Given the description of an element on the screen output the (x, y) to click on. 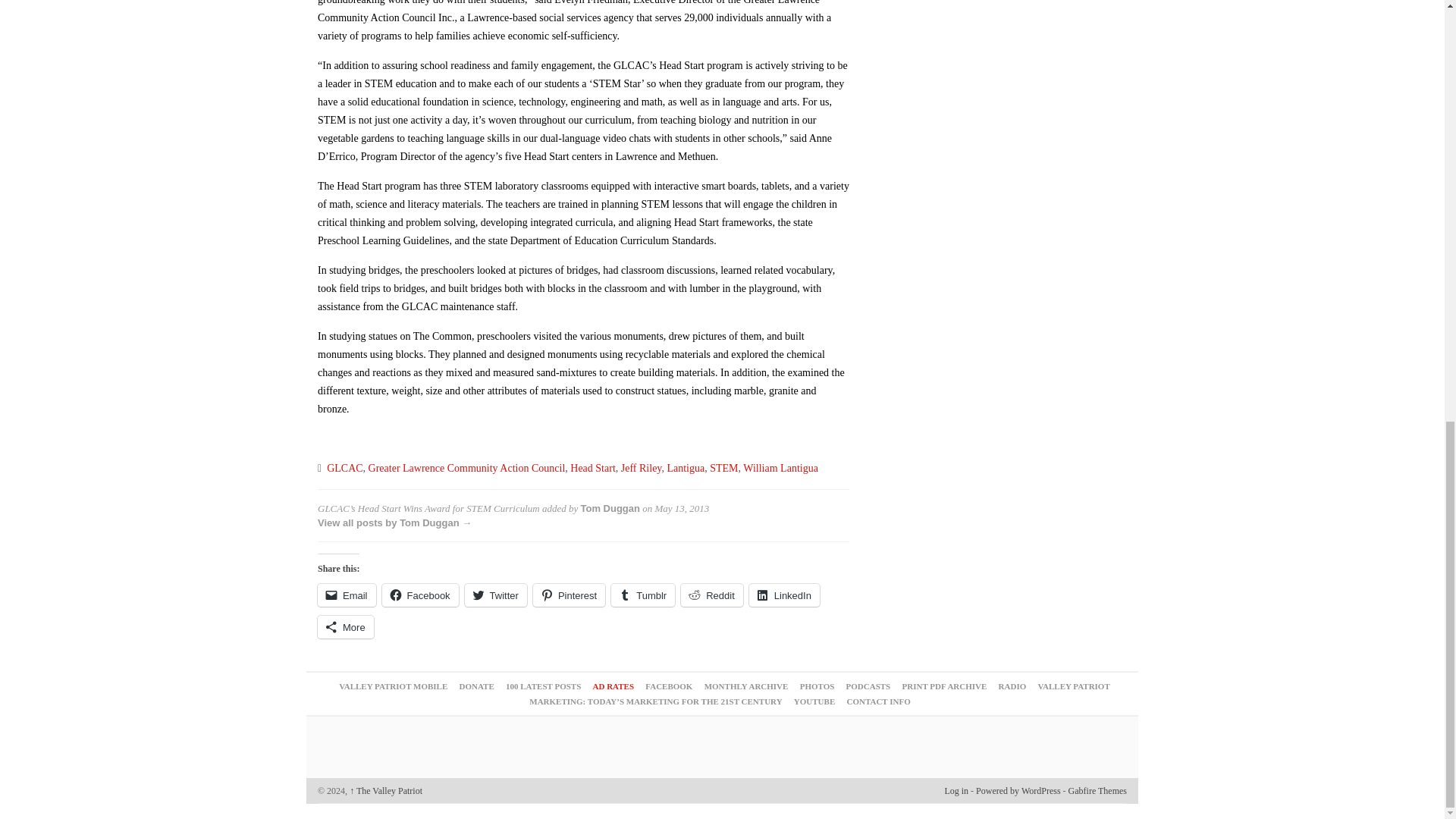
Head Start (592, 468)
Click to email a link to a friend (346, 594)
The Valley Patriot (385, 790)
Click to share on Facebook (419, 594)
Jeff Riley (641, 468)
Greater Lawrence Community Action Council (467, 468)
Semantic Personal Publishing Platform (1017, 790)
Click to share on Twitter (495, 594)
Click to share on Tumblr (643, 594)
Click to share on LinkedIn (784, 594)
